Given the description of an element on the screen output the (x, y) to click on. 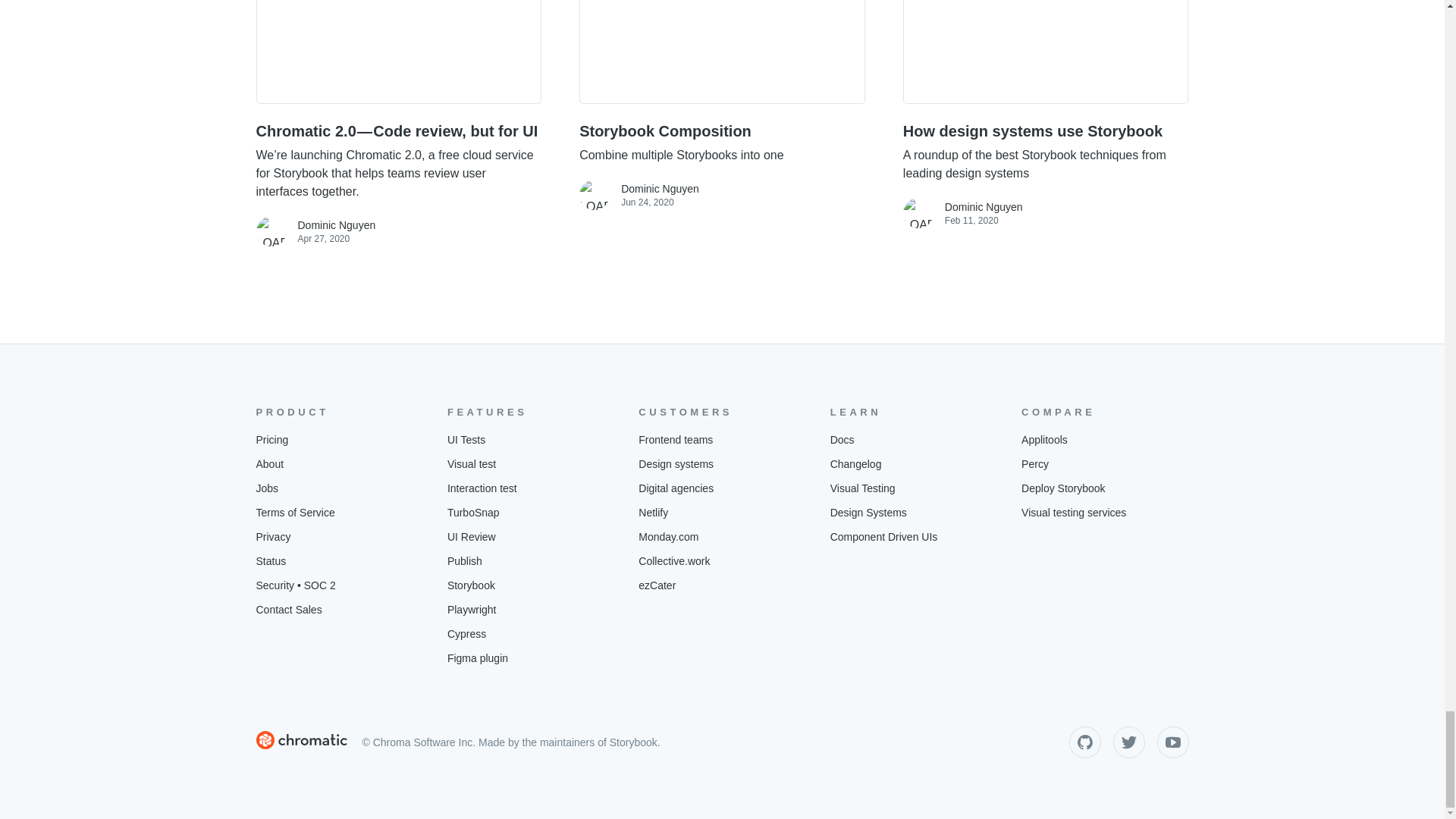
Contact Sales (288, 609)
Publish (463, 560)
UI Review (471, 536)
Pricing (272, 439)
Privacy (721, 143)
Jobs (273, 536)
About (267, 488)
Storybook Composition (269, 463)
Visual test (721, 52)
